Given the description of an element on the screen output the (x, y) to click on. 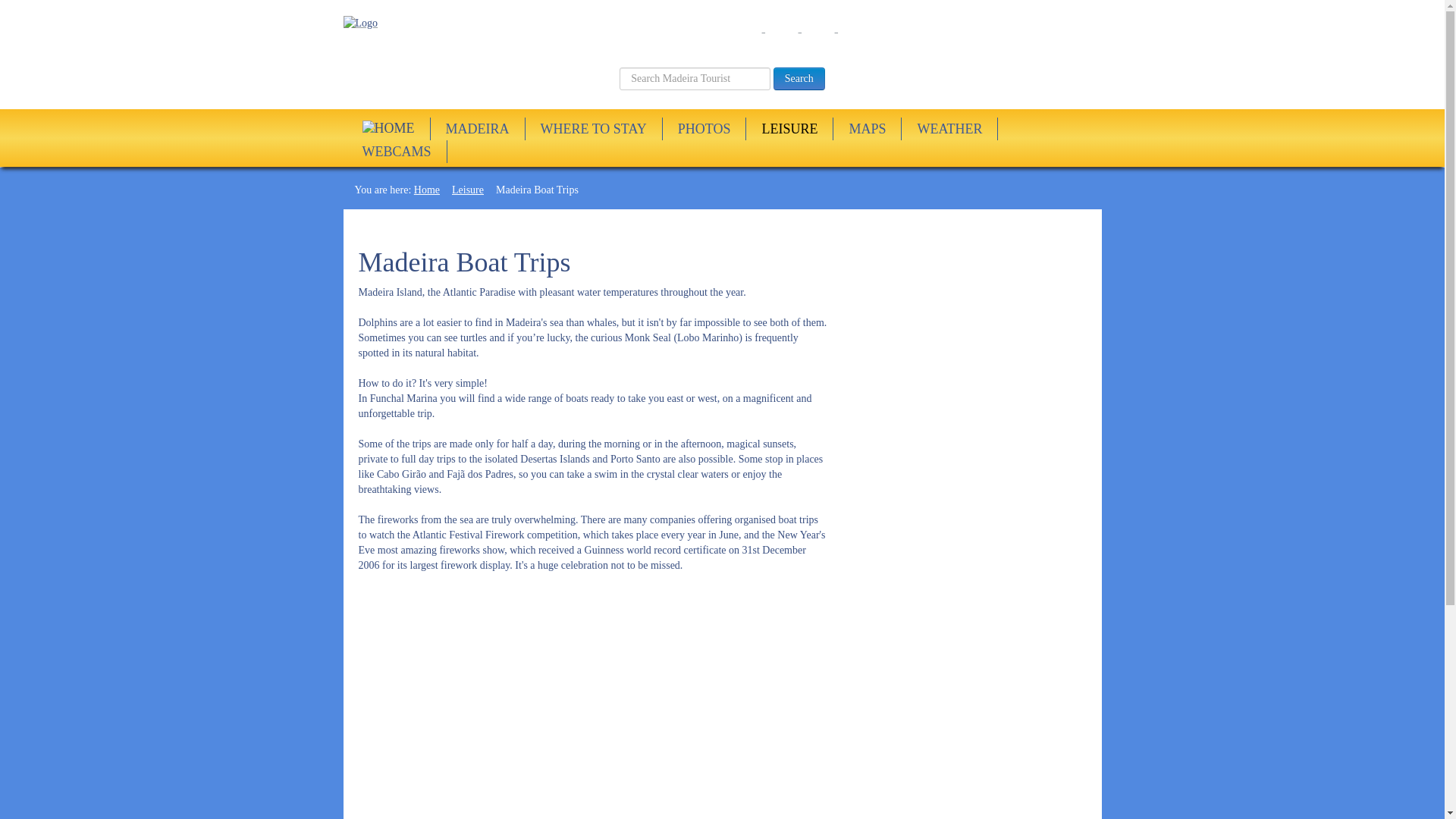
MADEIRA (476, 129)
LEISURE (789, 129)
WEATHER (948, 129)
MAPS (866, 129)
Home (426, 189)
WHERE TO STAY (593, 129)
Leisure (467, 189)
